Given the description of an element on the screen output the (x, y) to click on. 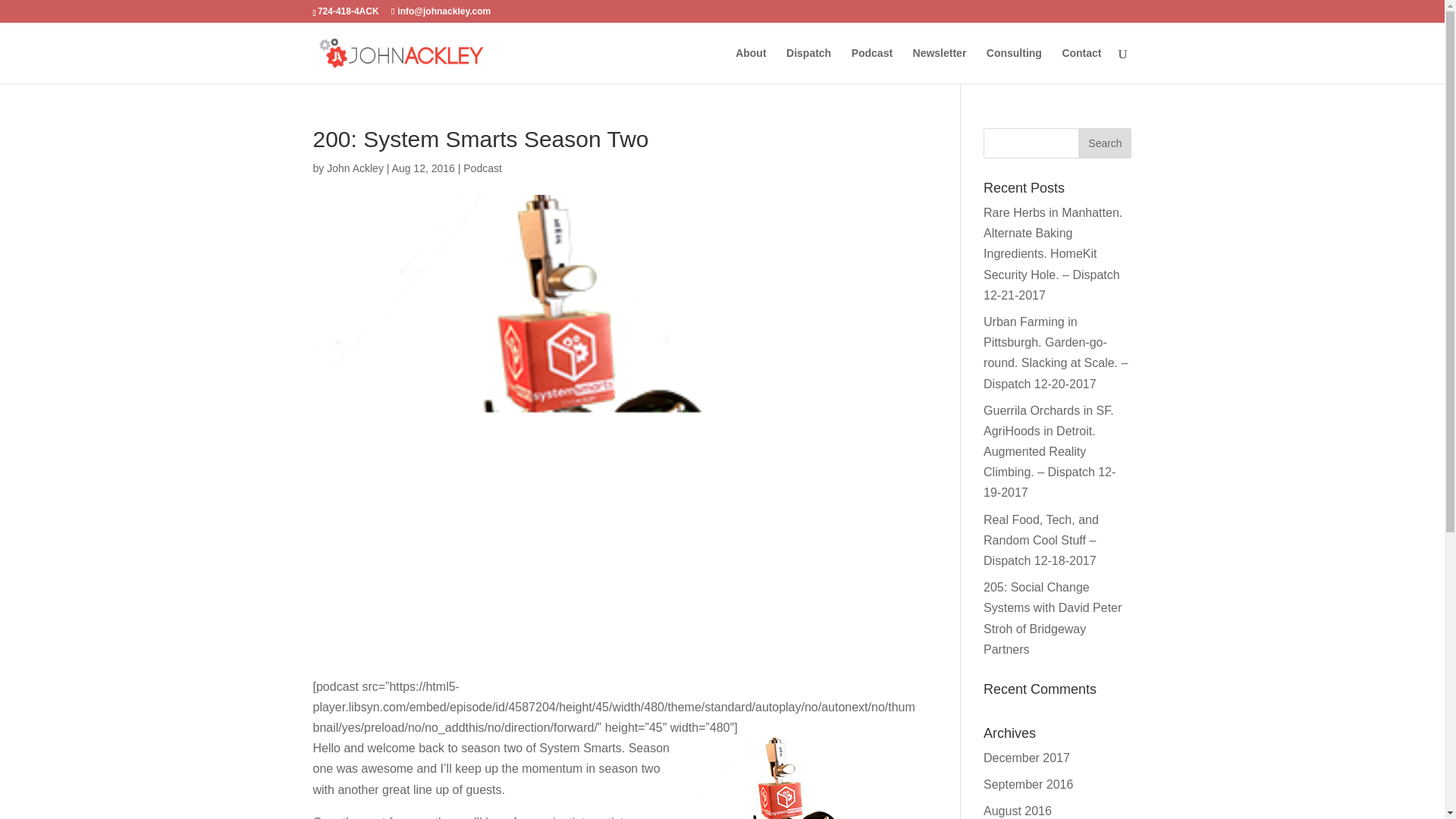
Contact (1080, 65)
Dispatch (808, 65)
Podcast (871, 65)
Search (1104, 142)
Search (1104, 142)
December 2017 (1027, 757)
Podcast (482, 168)
September 2016 (1028, 784)
August 2016 (1017, 810)
Newsletter (939, 65)
About (750, 65)
John Ackley (355, 168)
Consulting (1014, 65)
Posts by John Ackley (355, 168)
